Given the description of an element on the screen output the (x, y) to click on. 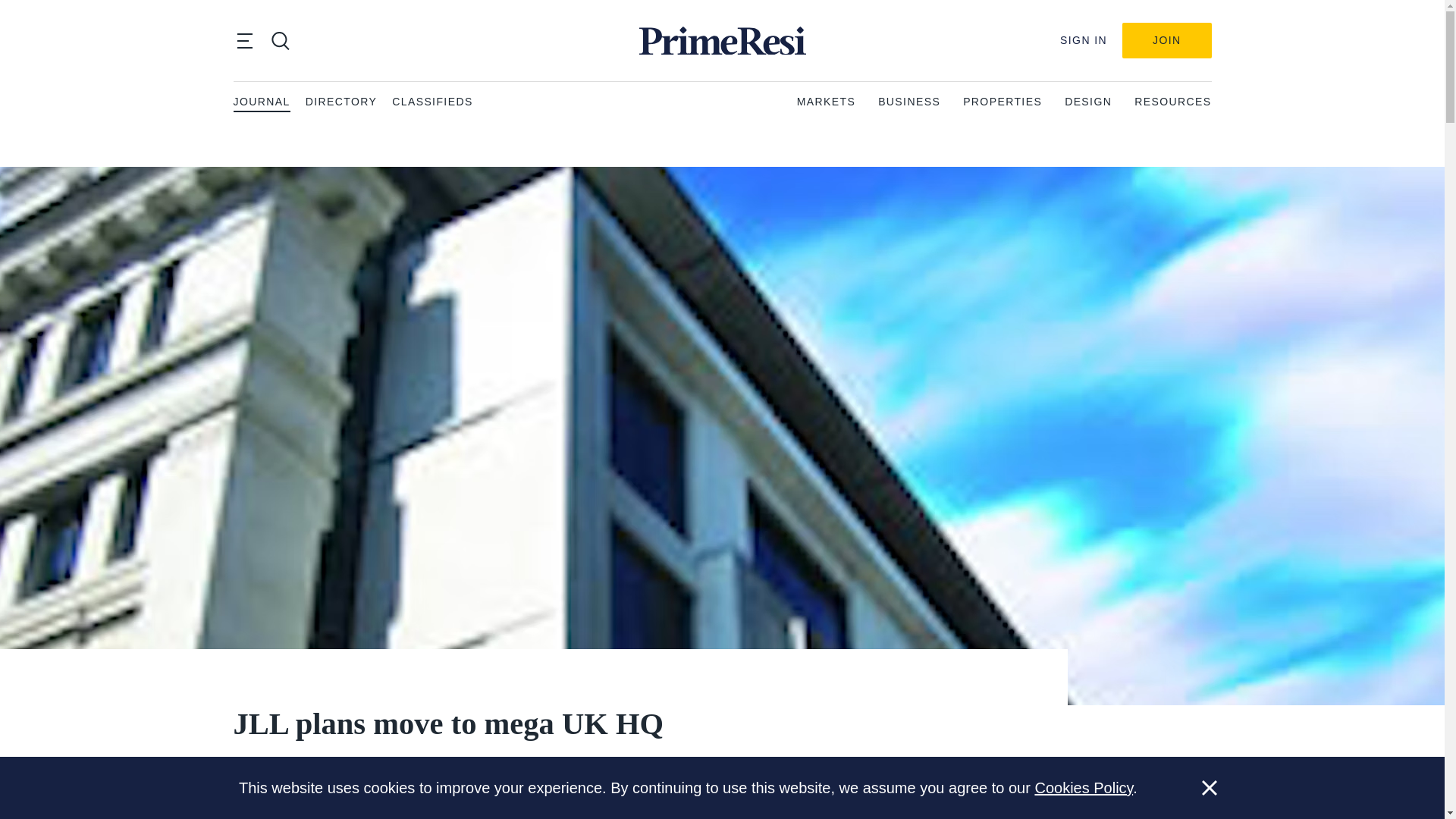
SIGN IN (1082, 40)
CLASSIFIEDS (431, 101)
RESOURCES (1172, 101)
DESIGN (1088, 101)
BUSINESS (908, 101)
Join (1166, 40)
PROPERTIES (1002, 101)
MARKETS (826, 101)
Print (867, 800)
JOIN (1166, 40)
DIRECTORY (341, 101)
JOURNAL (260, 101)
